Given the description of an element on the screen output the (x, y) to click on. 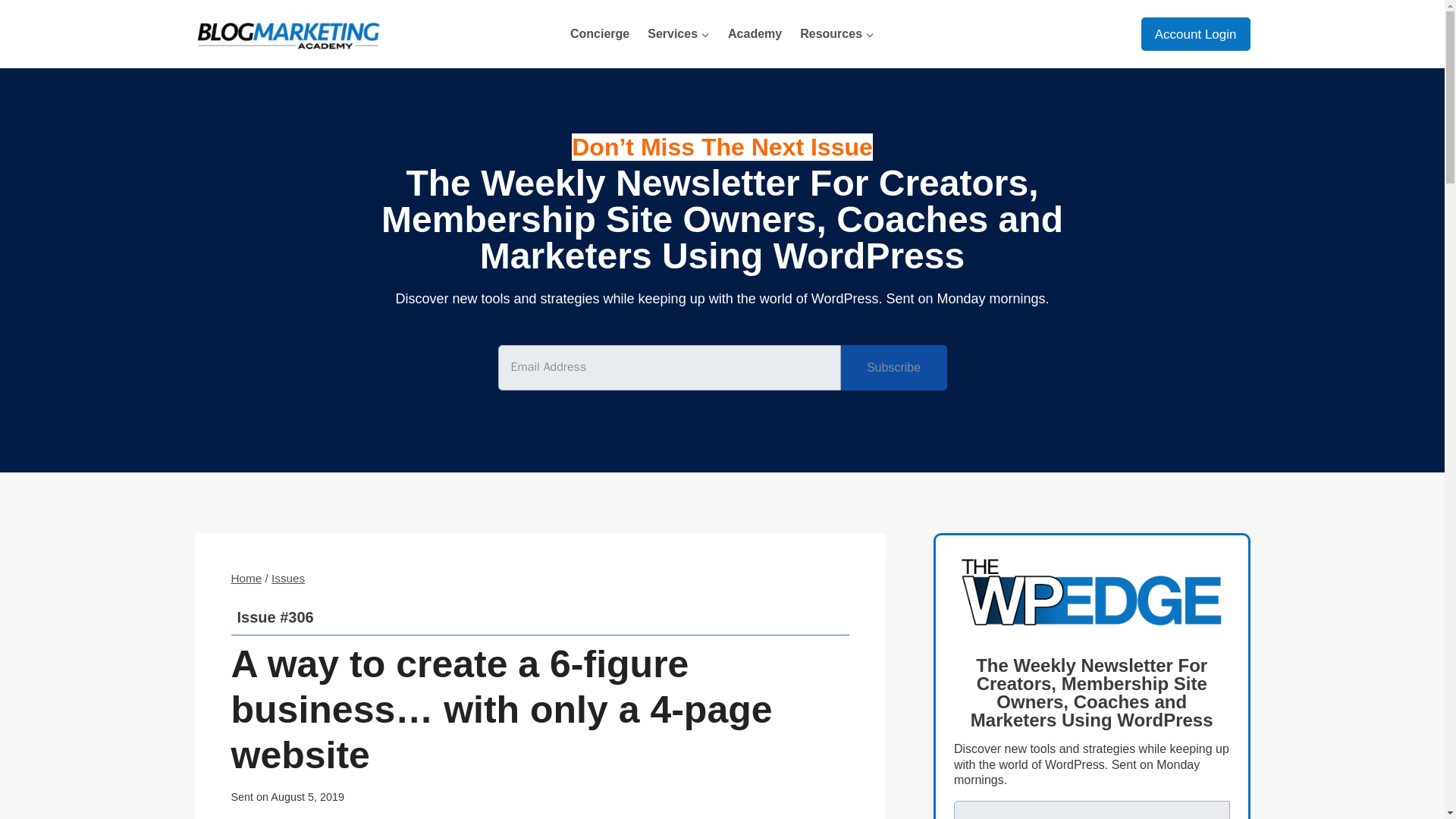
Home (246, 577)
Resources (836, 33)
Academy (754, 33)
Services (679, 33)
Account Login (1195, 33)
Issues (287, 577)
Subscribe (893, 367)
Concierge (599, 33)
